Given the description of an element on the screen output the (x, y) to click on. 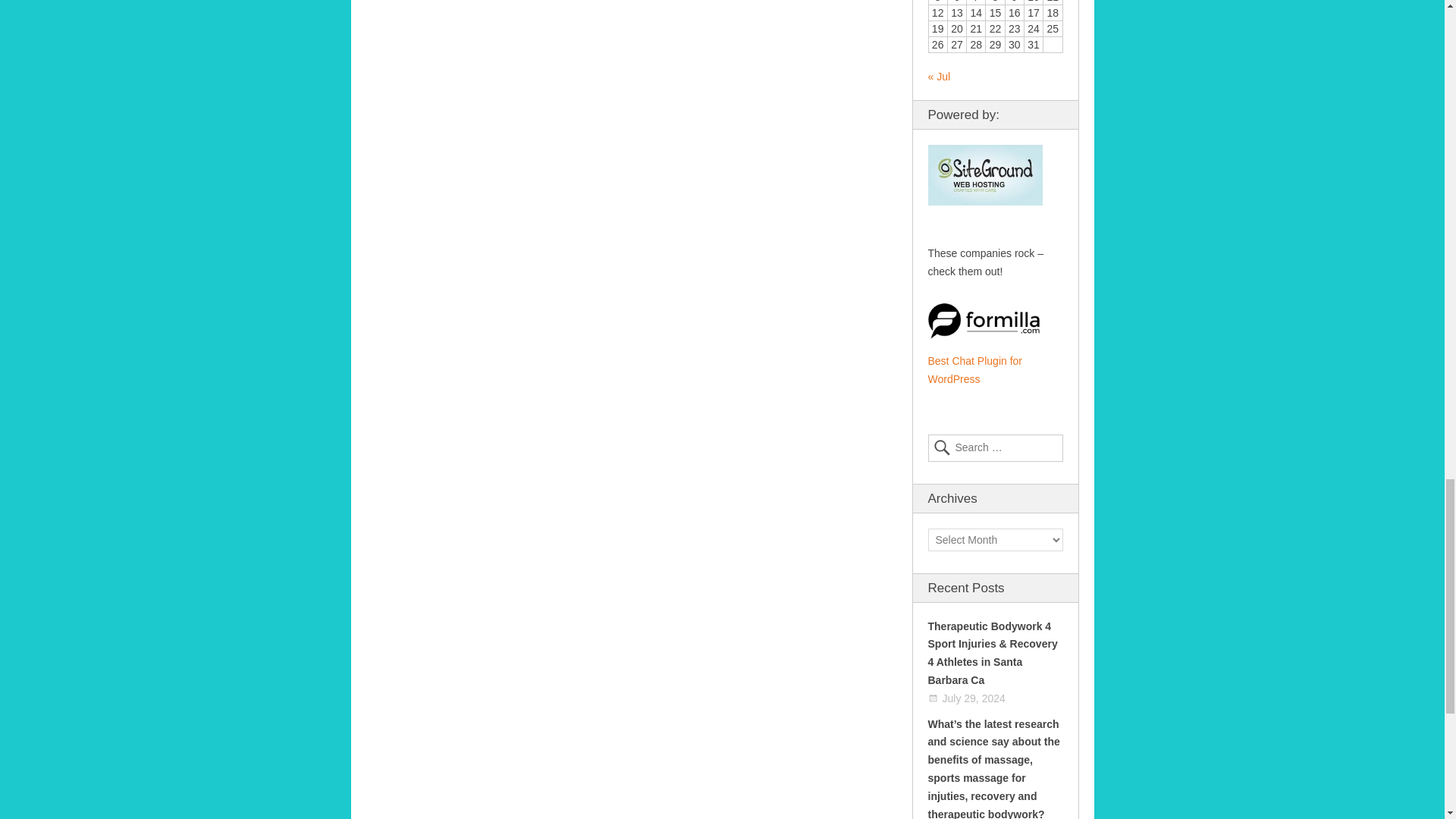
Best Chat Plugin for WordPress (975, 369)
